Given the description of an element on the screen output the (x, y) to click on. 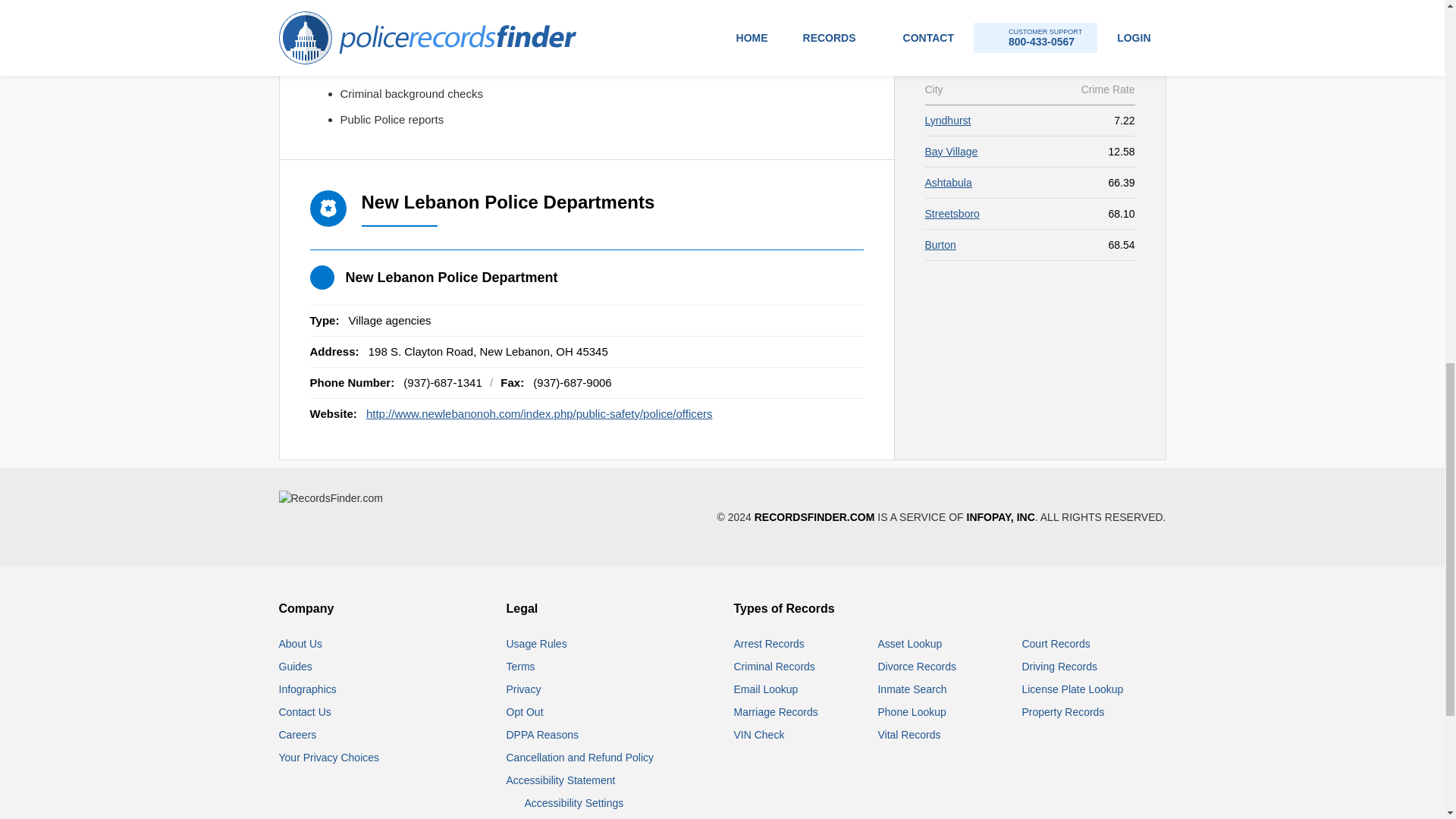
Guides and How tos (296, 666)
RecordsFinder.com Opt Out Instructions (524, 711)
Lyndhurst (947, 120)
RecordsFinder.com Cancellation and Refund Policy (579, 757)
RecordsFinder.com Terms and Conditions (520, 666)
RecordsFinder.com Privacy Policy (523, 689)
RecordsFinder.com Usage Rules (536, 644)
About RecordsFinder.com (301, 644)
Contact RecordsFinder.com (305, 711)
Your Privacy Choices (329, 757)
